Given the description of an element on the screen output the (x, y) to click on. 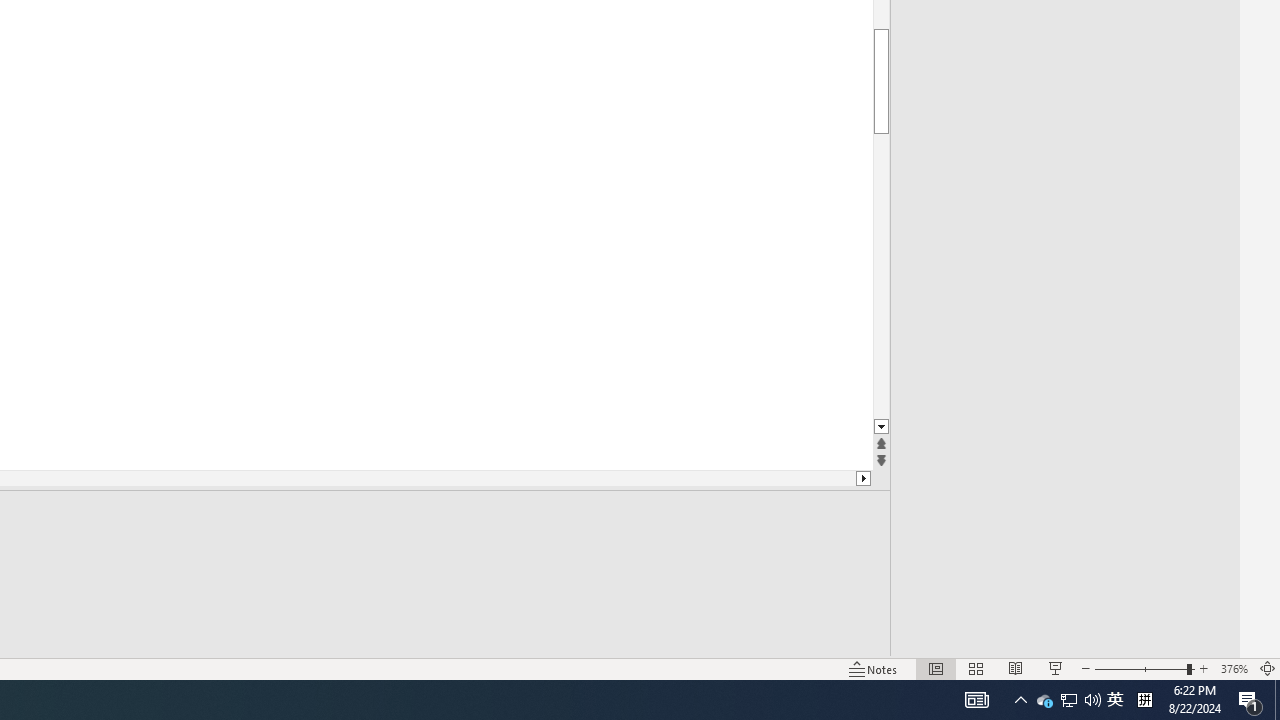
Zoom 376% (1234, 668)
